Given the description of an element on the screen output the (x, y) to click on. 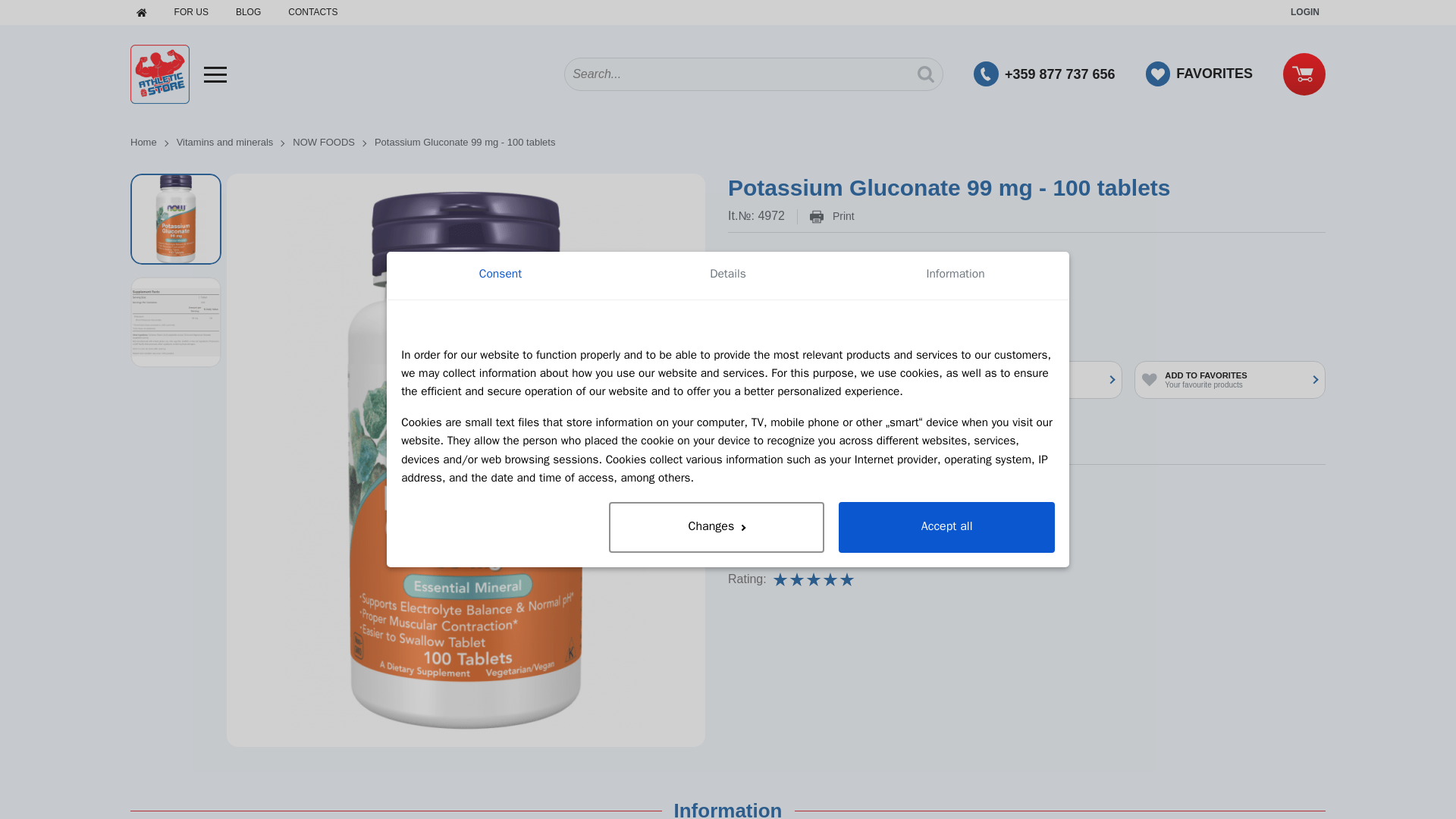
NOW FOODS (333, 142)
ADD TO CART (861, 328)
For us (191, 12)
LOGIN (1304, 12)
CONTACTS (312, 12)
NOW FOODS (780, 549)
Vitamins and minerals (235, 142)
Contacts (312, 12)
Blog (248, 12)
FAVORITES (1198, 73)
